Given the description of an element on the screen output the (x, y) to click on. 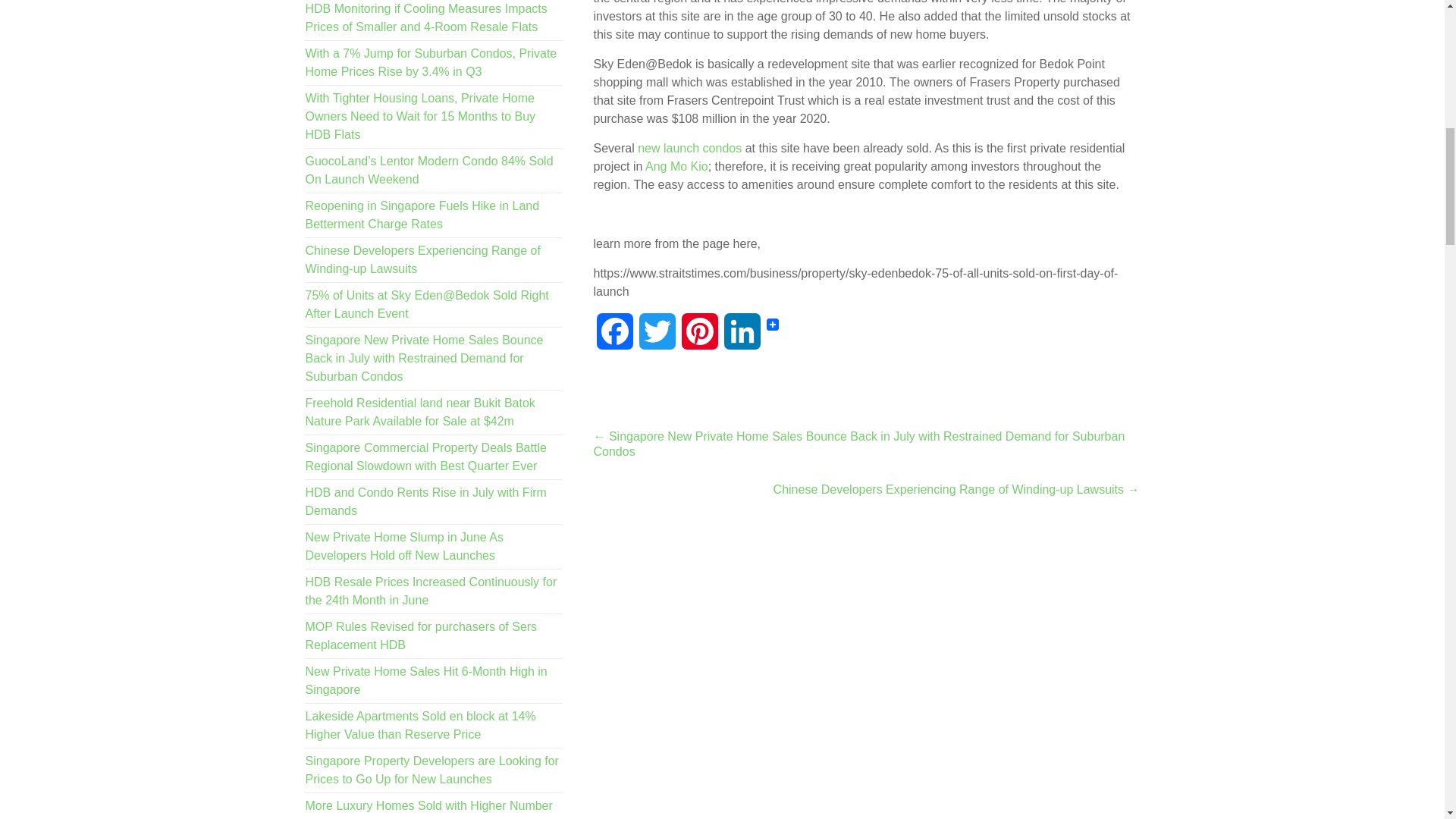
Ang Mo Kio (676, 165)
new launch condos (689, 147)
Chinese Developers Experiencing Range of Winding-up Lawsuits (422, 259)
